Given the description of an element on the screen output the (x, y) to click on. 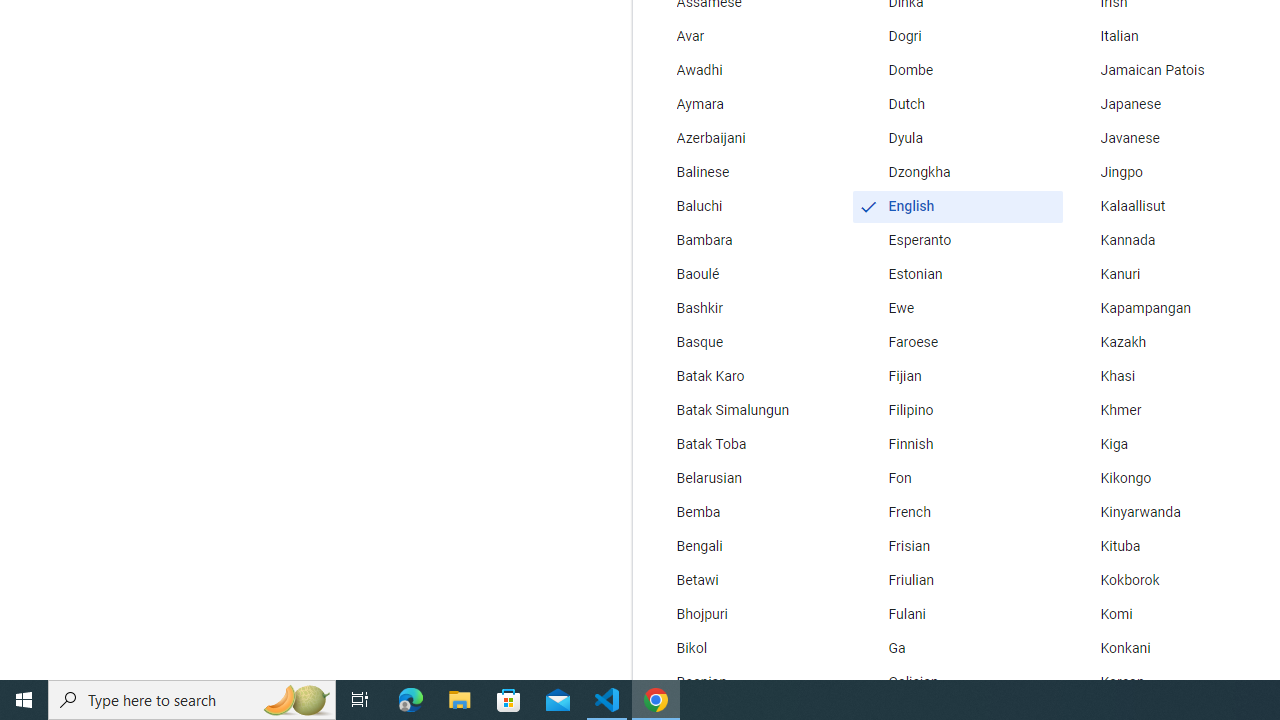
Jingpo (1168, 172)
Kiga (1168, 444)
Frisian (957, 547)
Aymara (745, 104)
Ewe (957, 308)
Bengali (745, 547)
Batak Simalungun (745, 410)
Javanese (1168, 138)
Jamaican Patois (1168, 70)
Khasi (1168, 376)
Dombe (957, 70)
Finnish (957, 444)
English (recently used language) (957, 206)
Esperanto (957, 240)
Avar (745, 36)
